Given the description of an element on the screen output the (x, y) to click on. 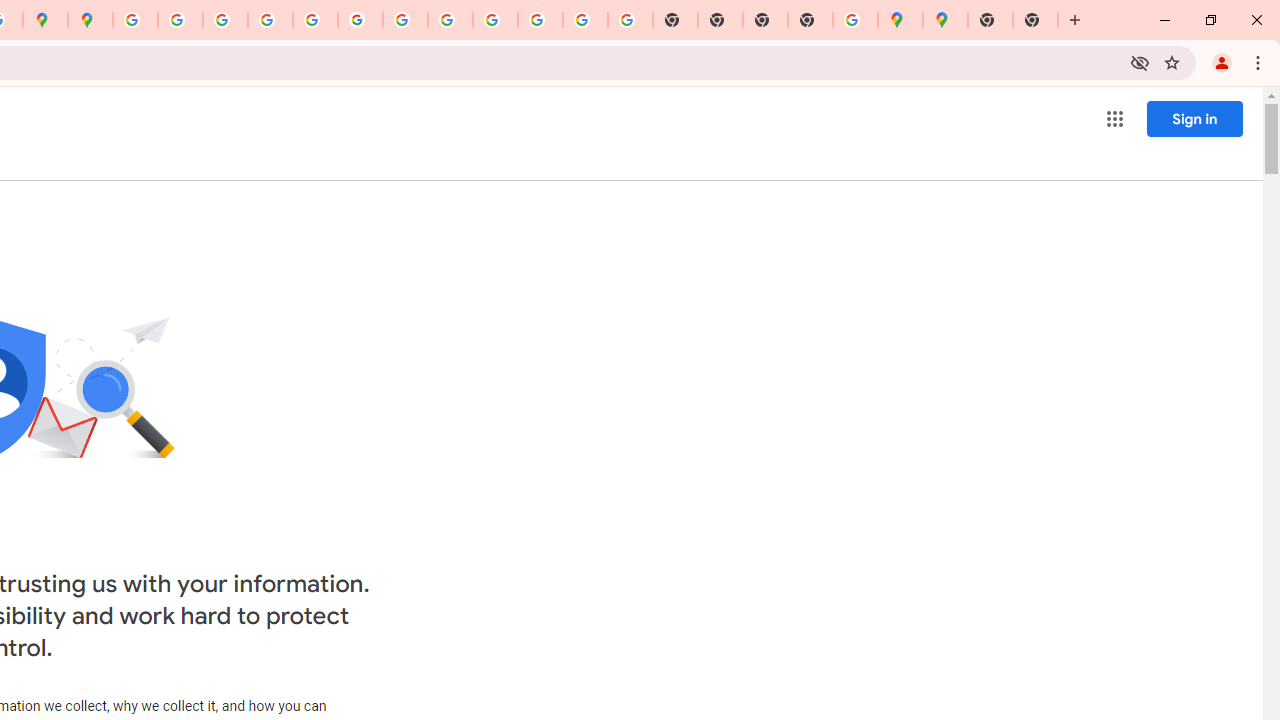
New Tab (1035, 20)
Privacy Help Center - Policies Help (270, 20)
New Tab (810, 20)
Google Maps (900, 20)
